Given the description of an element on the screen output the (x, y) to click on. 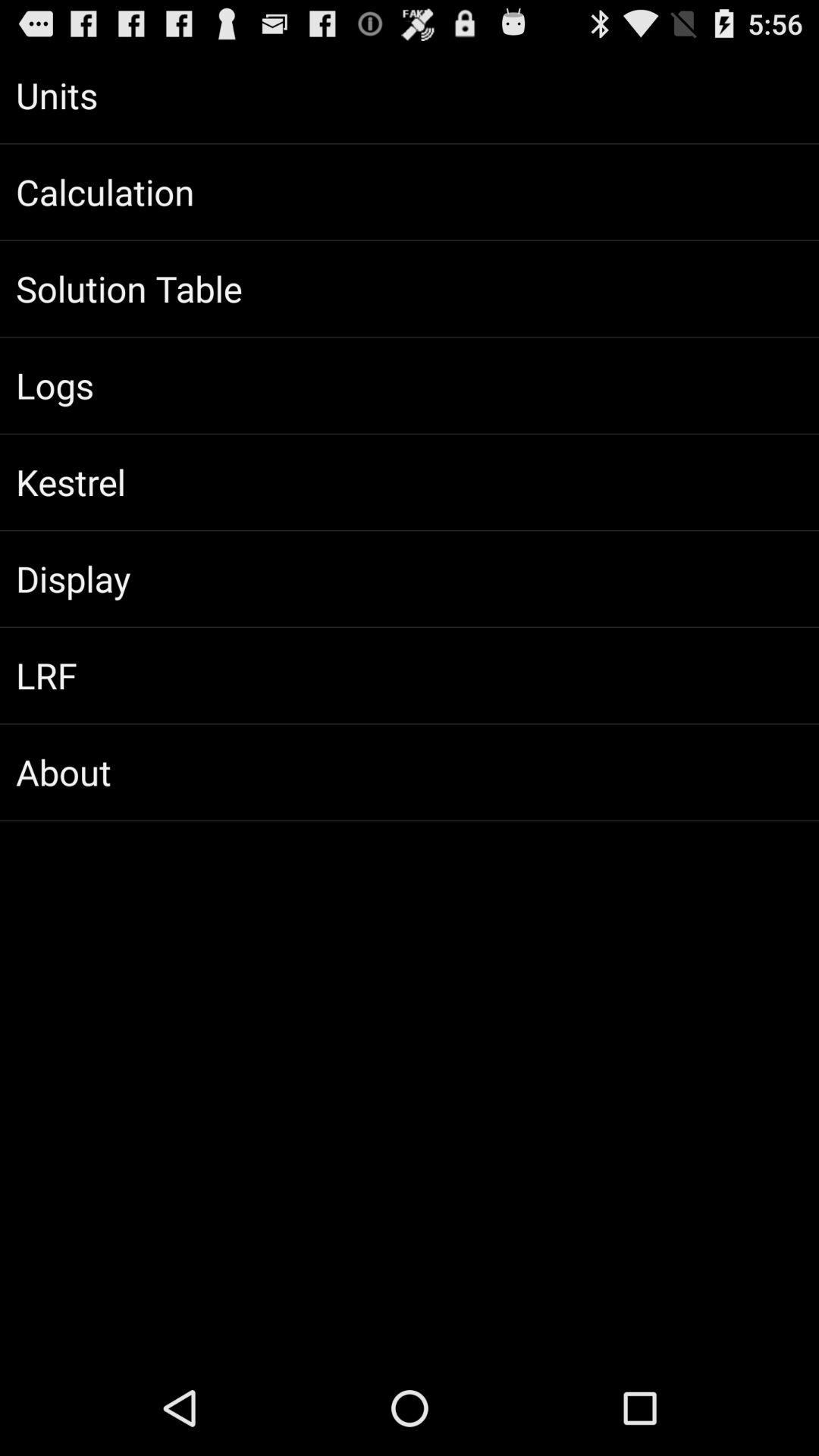
open the display item (409, 578)
